Given the description of an element on the screen output the (x, y) to click on. 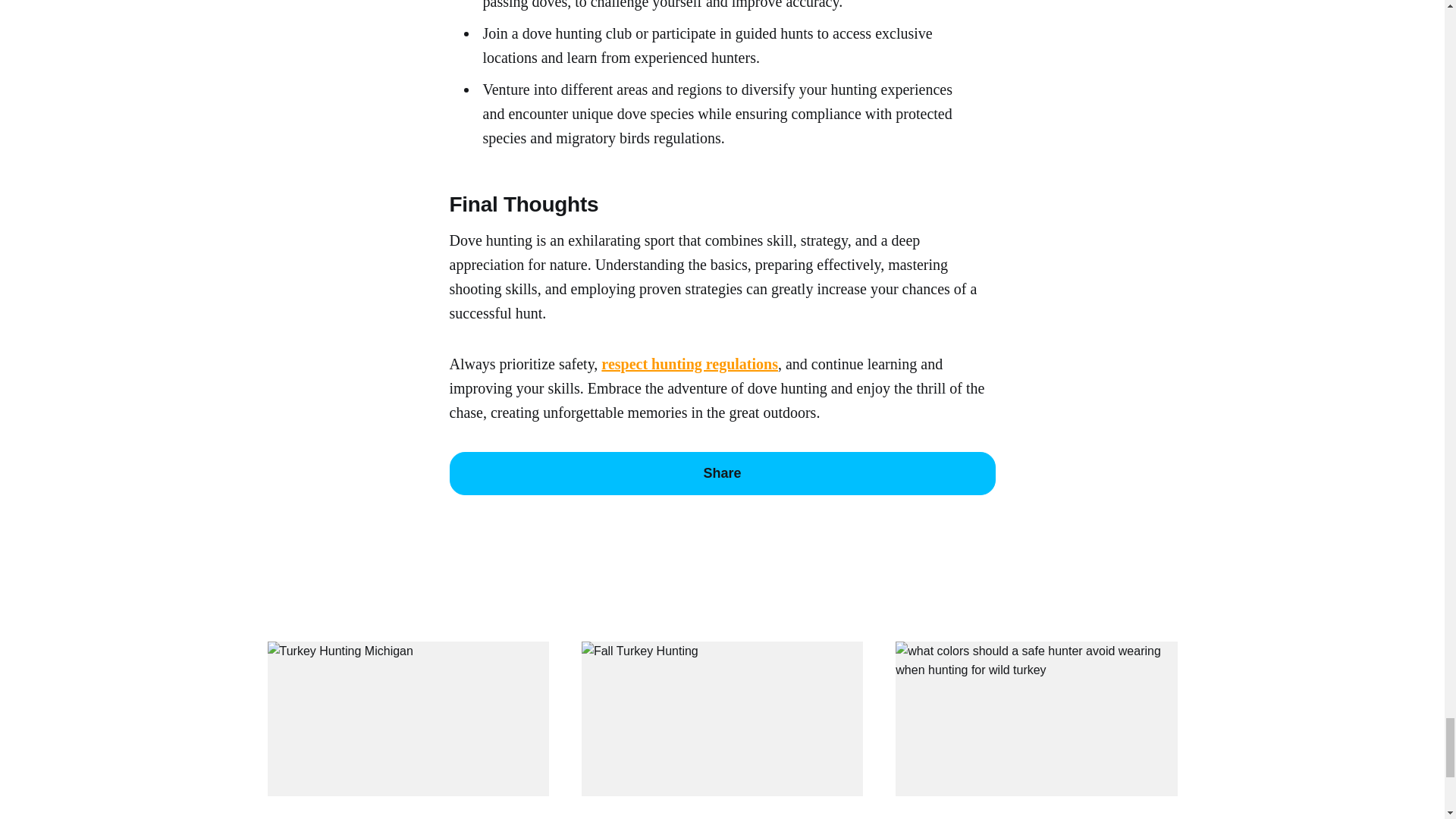
respect hunting regulations (689, 363)
Share (721, 474)
